Given the description of an element on the screen output the (x, y) to click on. 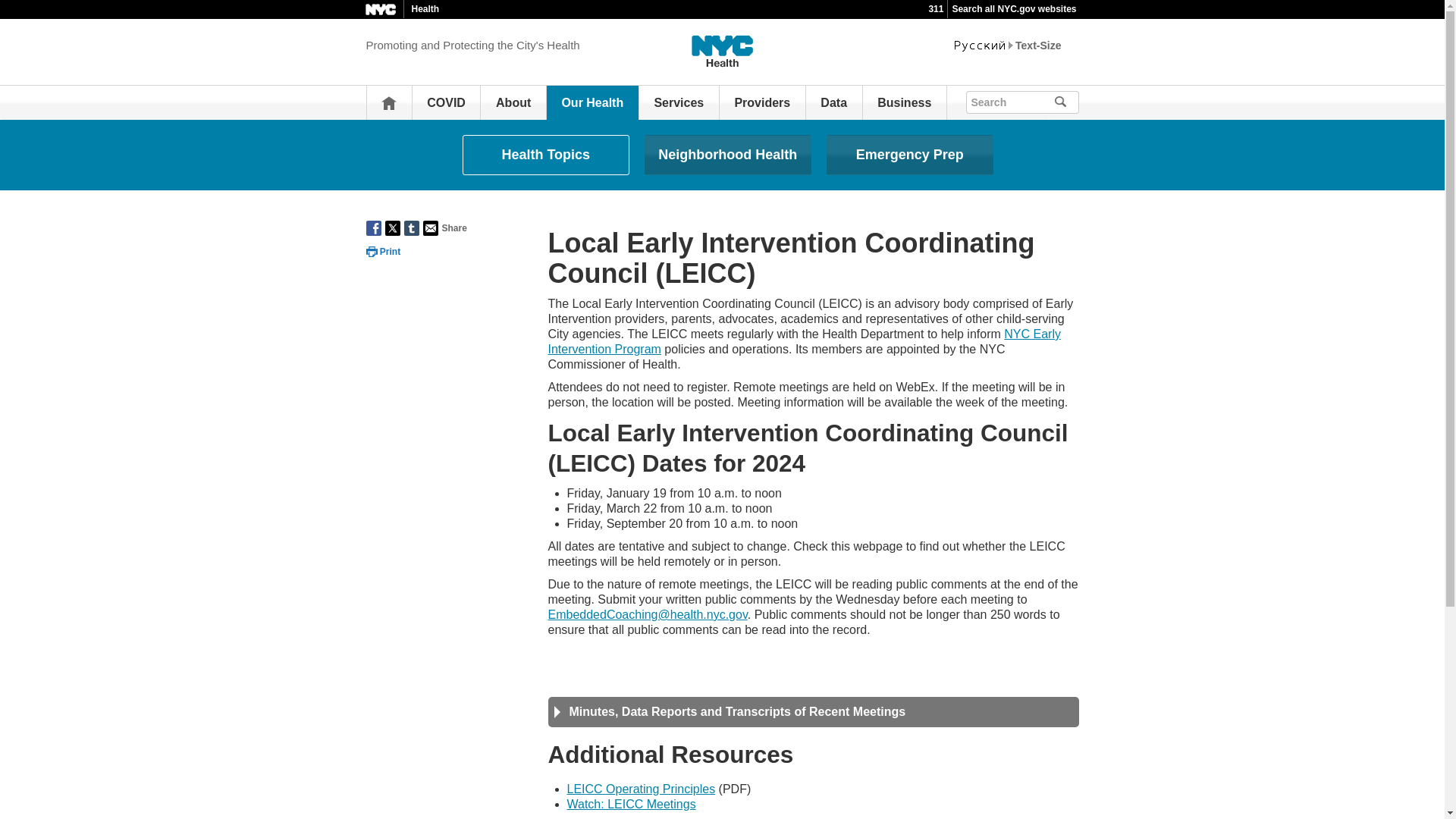
Providers (761, 102)
Services (678, 102)
About (513, 102)
Business (904, 102)
Neighborhood Health (727, 155)
Emergency Prep (909, 155)
Health Topics (545, 155)
Text-Size (1037, 45)
Search all NYC.gov websites (1013, 9)
submit (1066, 101)
submit (1066, 101)
COVID (445, 102)
submit (1066, 101)
311 (935, 9)
NYC Early Intervention Program (803, 341)
